Given the description of an element on the screen output the (x, y) to click on. 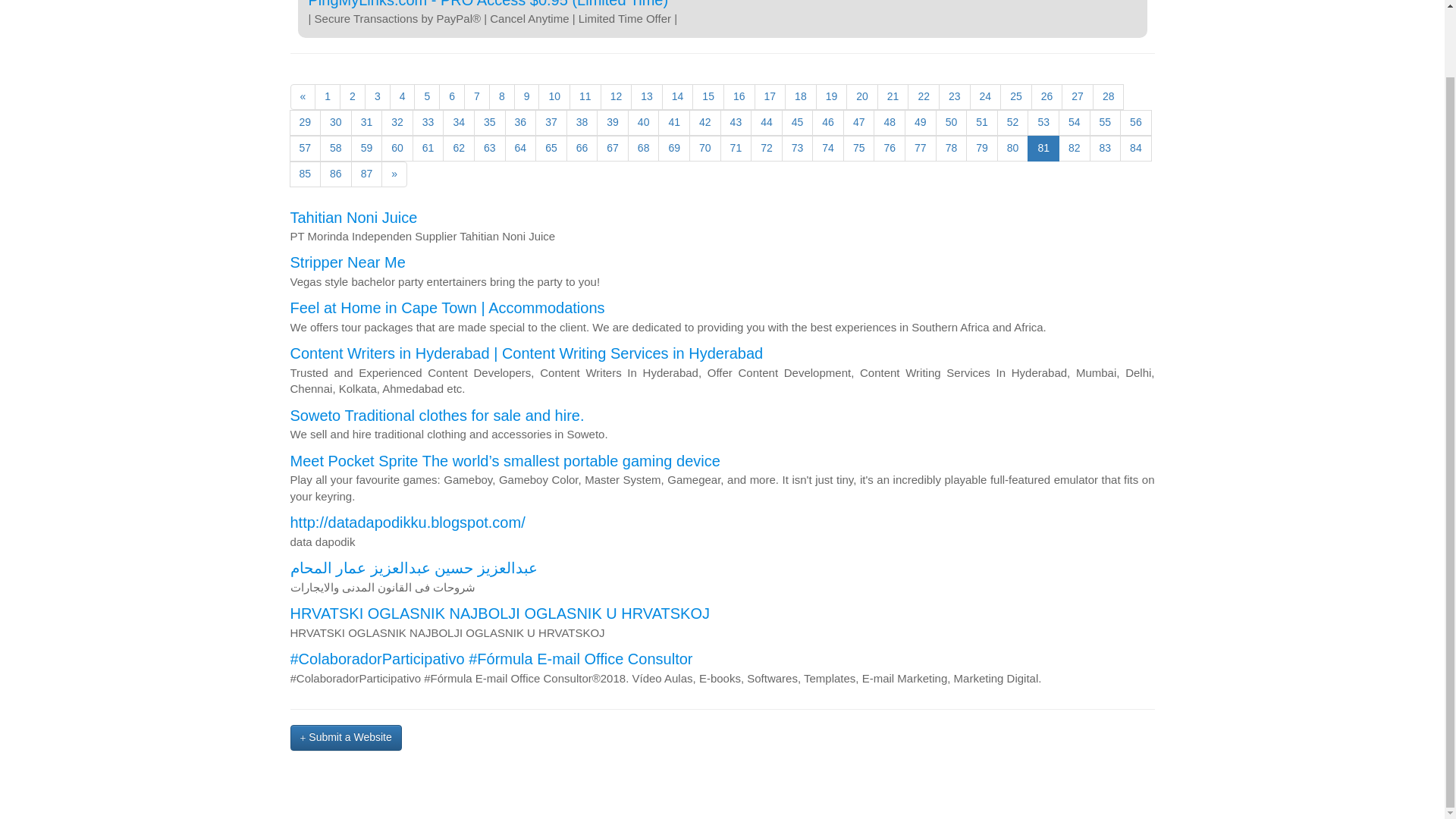
17 (770, 96)
36 (521, 122)
4 (402, 96)
16 (739, 96)
6 (451, 96)
30 (336, 122)
21 (892, 96)
38 (582, 122)
9 (526, 96)
15 (708, 96)
26 (1046, 96)
27 (1077, 96)
8 (502, 96)
35 (489, 122)
18 (800, 96)
